Given the description of an element on the screen output the (x, y) to click on. 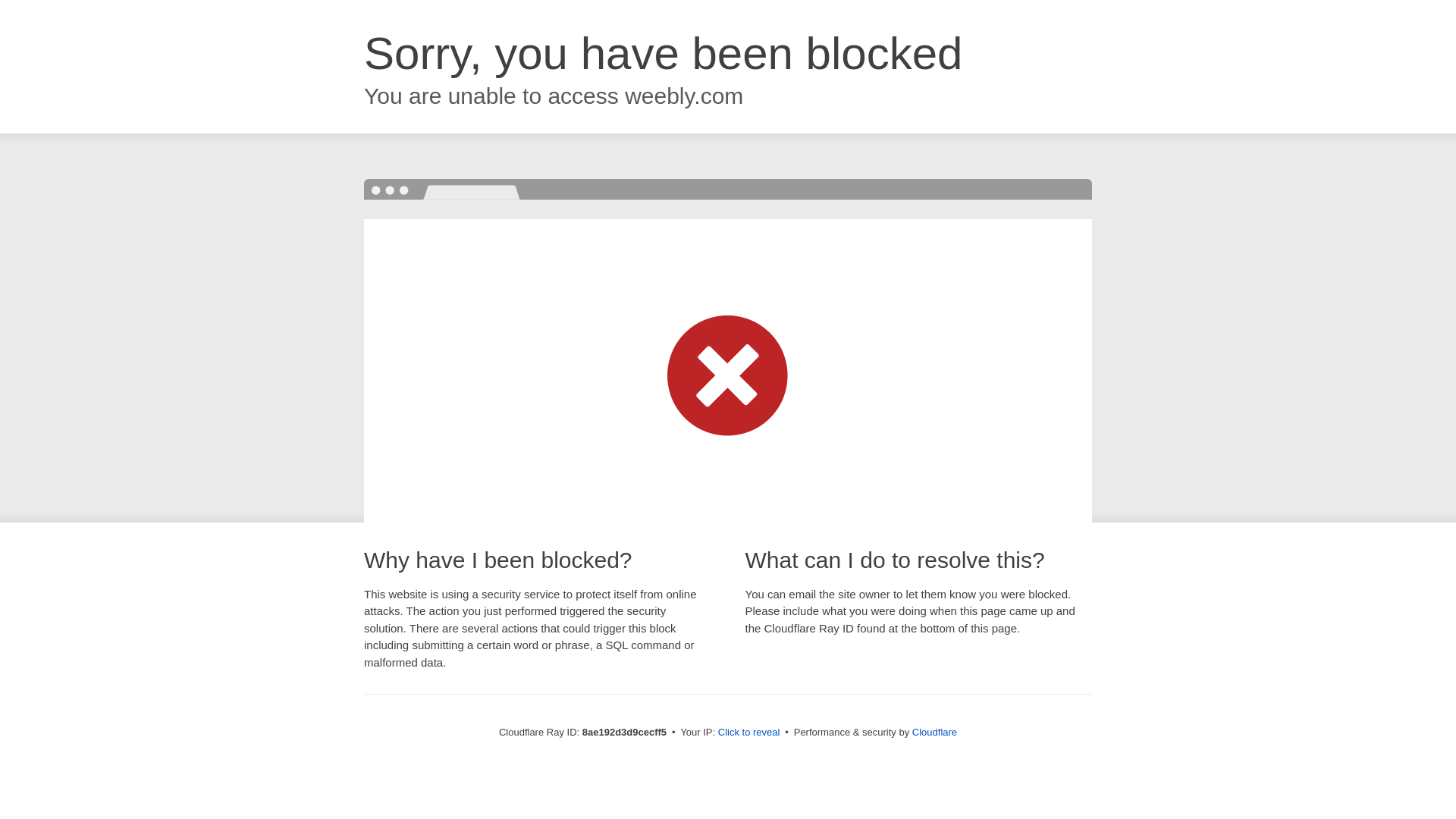
Click to reveal (748, 732)
Cloudflare (934, 731)
